Given the description of an element on the screen output the (x, y) to click on. 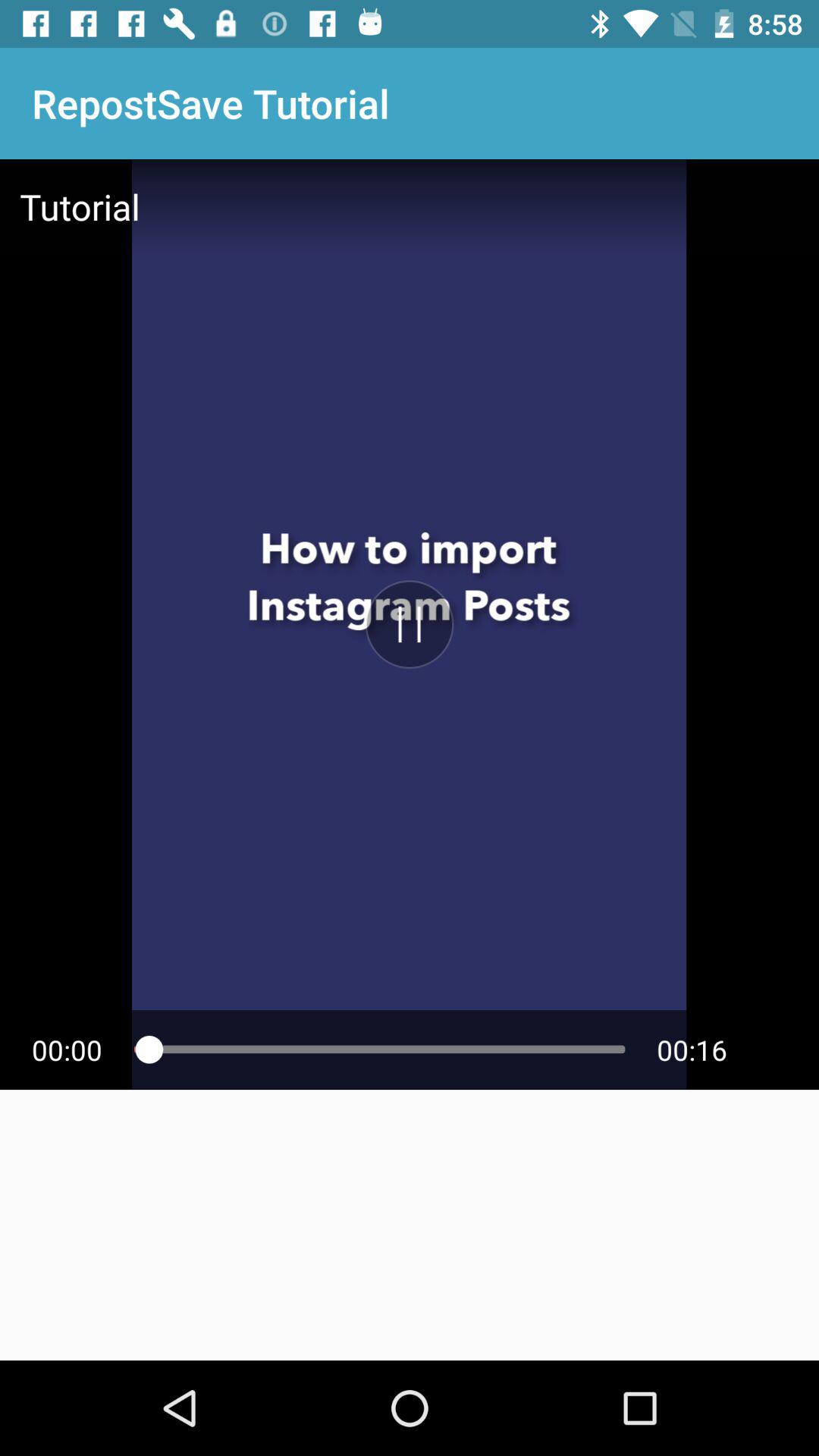
tap to play (409, 624)
